Given the description of an element on the screen output the (x, y) to click on. 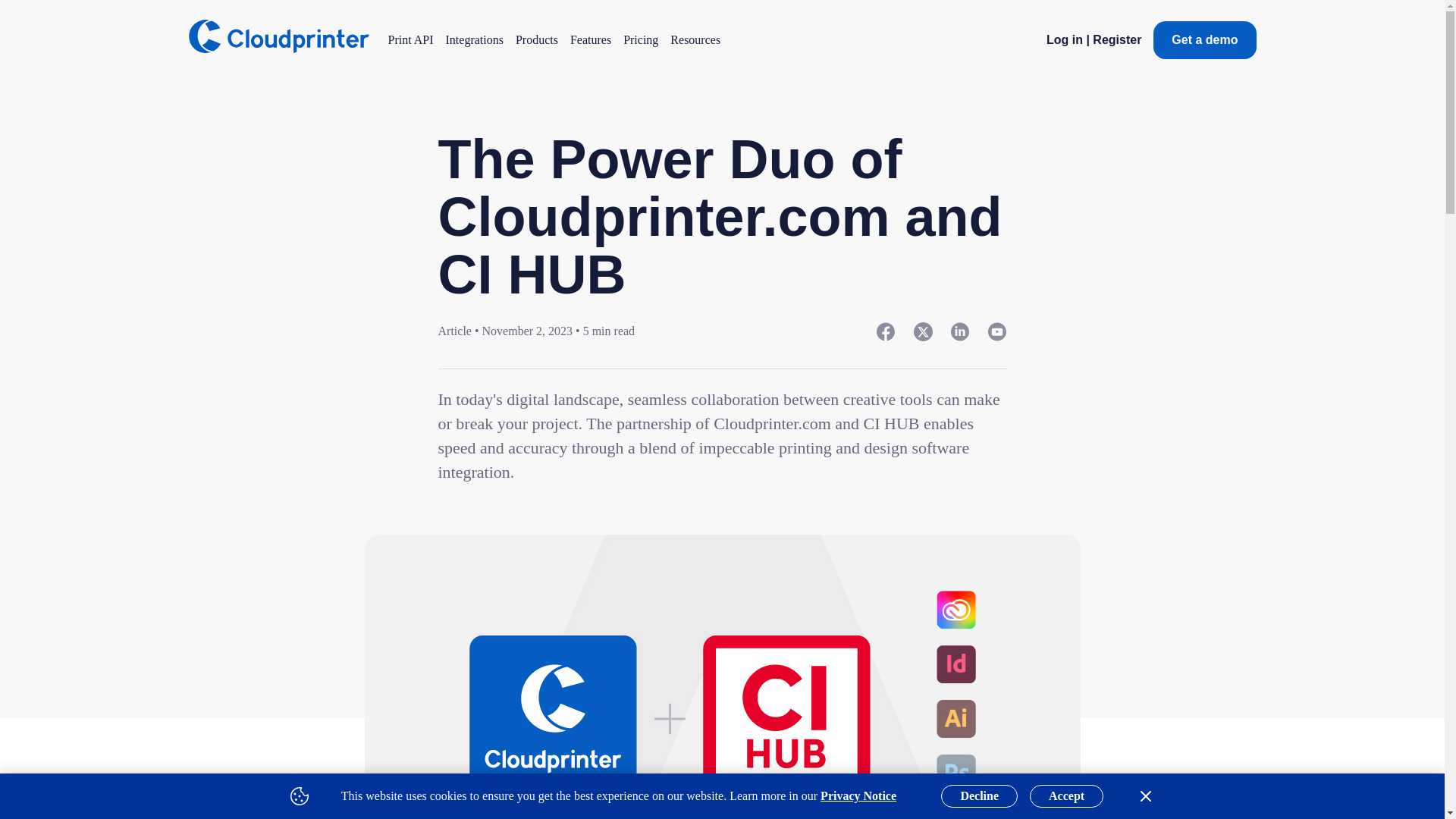
Print API (410, 39)
Features (590, 39)
Get a demo (1204, 39)
Products (536, 39)
Pricing (640, 39)
Integrations (474, 39)
Resources (694, 39)
Pricing (640, 39)
Integrations (474, 39)
Features (590, 39)
Print API (410, 39)
Products (536, 39)
